Given the description of an element on the screen output the (x, y) to click on. 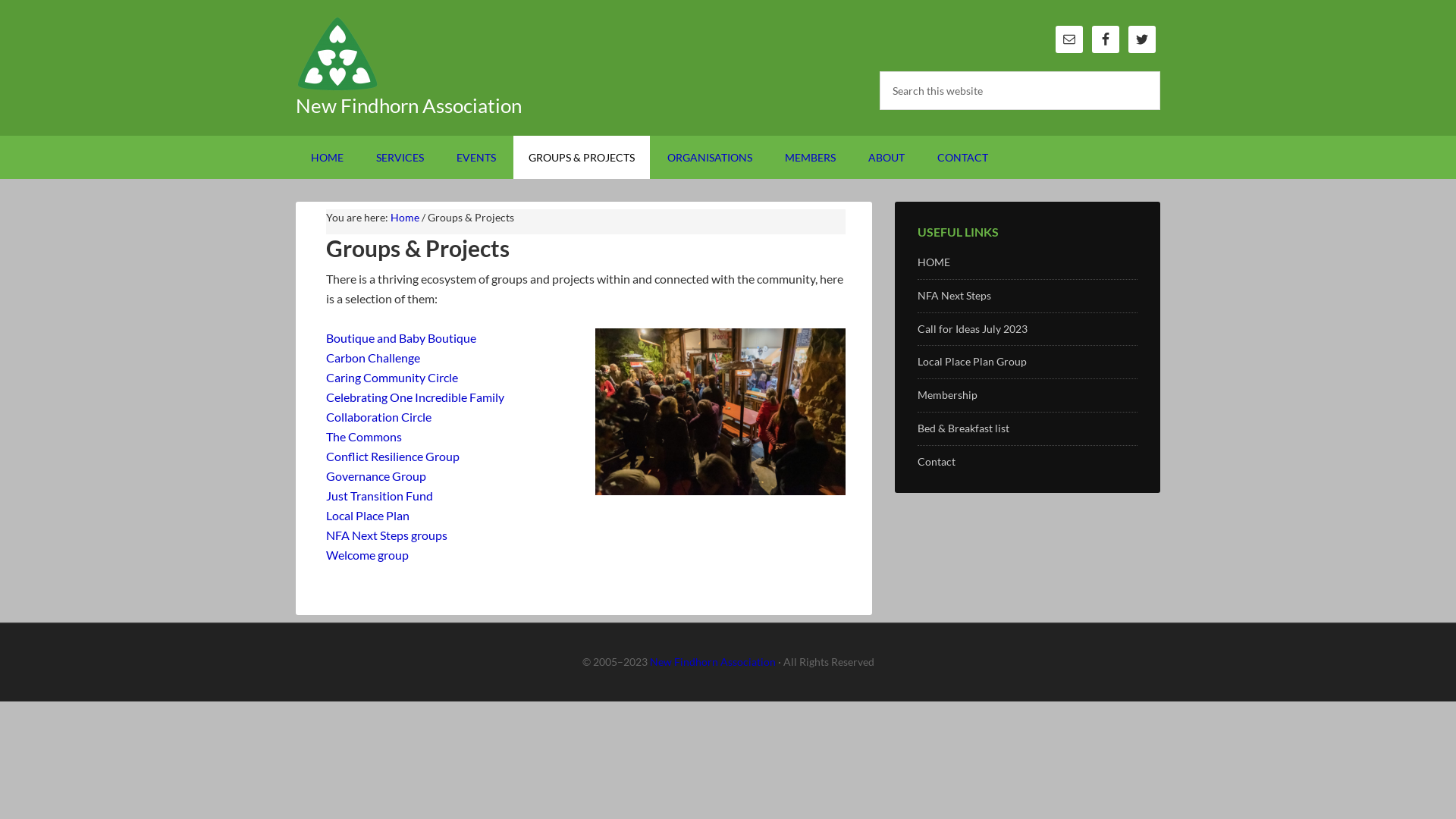
Celebrating One Incredible Family Element type: text (415, 396)
NFA Element type: text (424, 53)
Contact Element type: text (936, 461)
Search Element type: text (1159, 70)
Boutique and Baby Boutique Element type: text (401, 337)
Conflict Resilience Group Element type: text (392, 455)
Caring Community Circle Element type: text (392, 377)
The Commons Element type: text (363, 436)
Local Place Plan Element type: text (367, 515)
Home Element type: text (404, 216)
GROUPS & PROJECTS Element type: text (581, 156)
NFA Next Steps Element type: text (954, 294)
NFA Next Steps groups Element type: text (386, 534)
HOME Element type: text (933, 261)
EVENTS Element type: text (476, 156)
ABOUT Element type: text (886, 156)
MEMBERS Element type: text (809, 156)
CONTACT Element type: text (962, 156)
Collaboration Circle Element type: text (378, 416)
ORGANISATIONS Element type: text (709, 156)
SERVICES Element type: text (399, 156)
Bed & Breakfast list Element type: text (963, 427)
Carbon Challenge Element type: text (373, 357)
Local Place Plan Group Element type: text (971, 360)
New Findhorn Association Element type: text (712, 661)
HOME Element type: text (326, 156)
Governance Group Element type: text (376, 475)
Call for Ideas July 2023 Element type: text (972, 328)
Just Transition Fund Element type: text (379, 495)
Membership Element type: text (947, 394)
Welcome group Element type: text (367, 554)
